Given the description of an element on the screen output the (x, y) to click on. 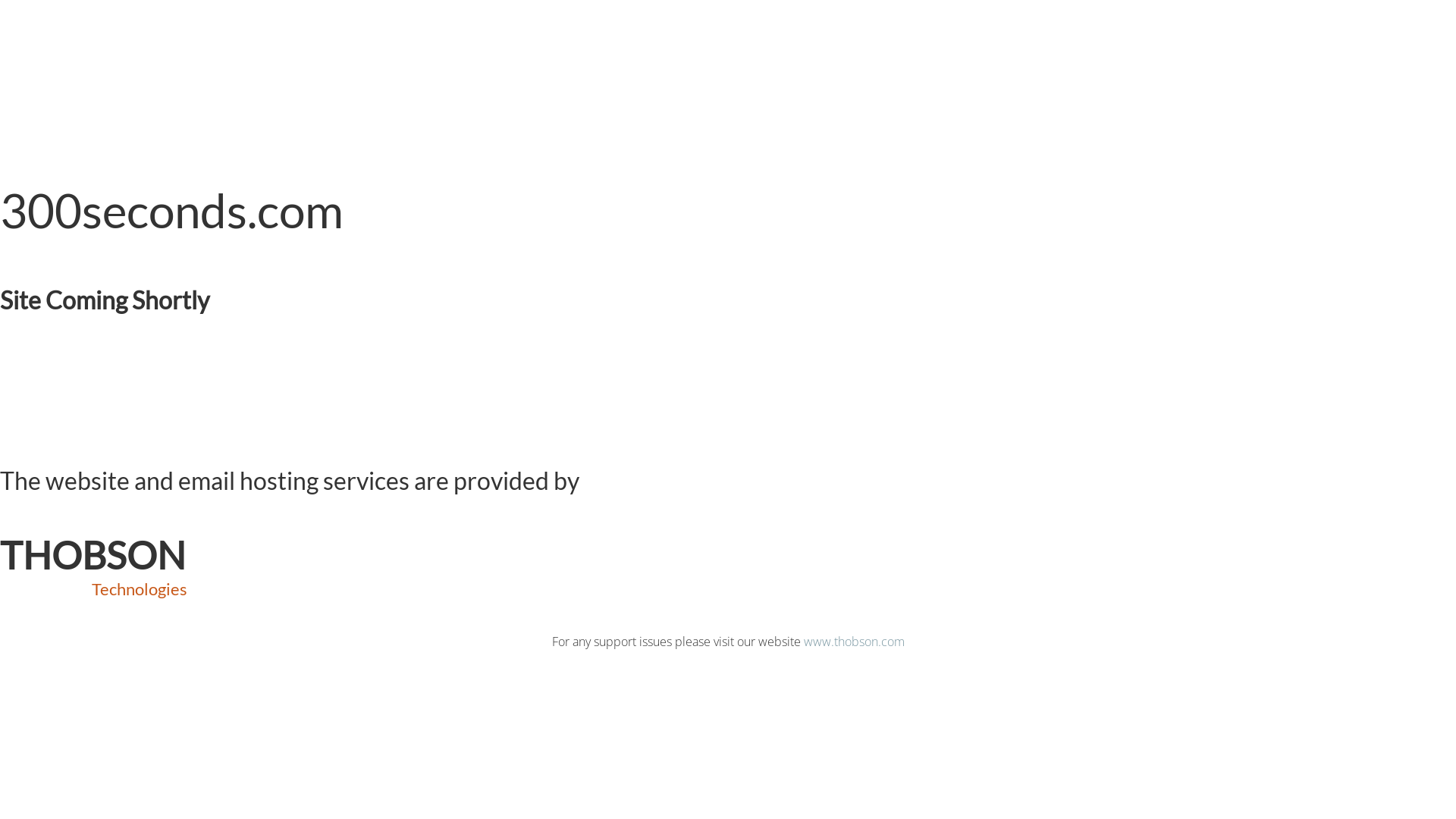
www.thobson.com Element type: text (853, 641)
